Given the description of an element on the screen output the (x, y) to click on. 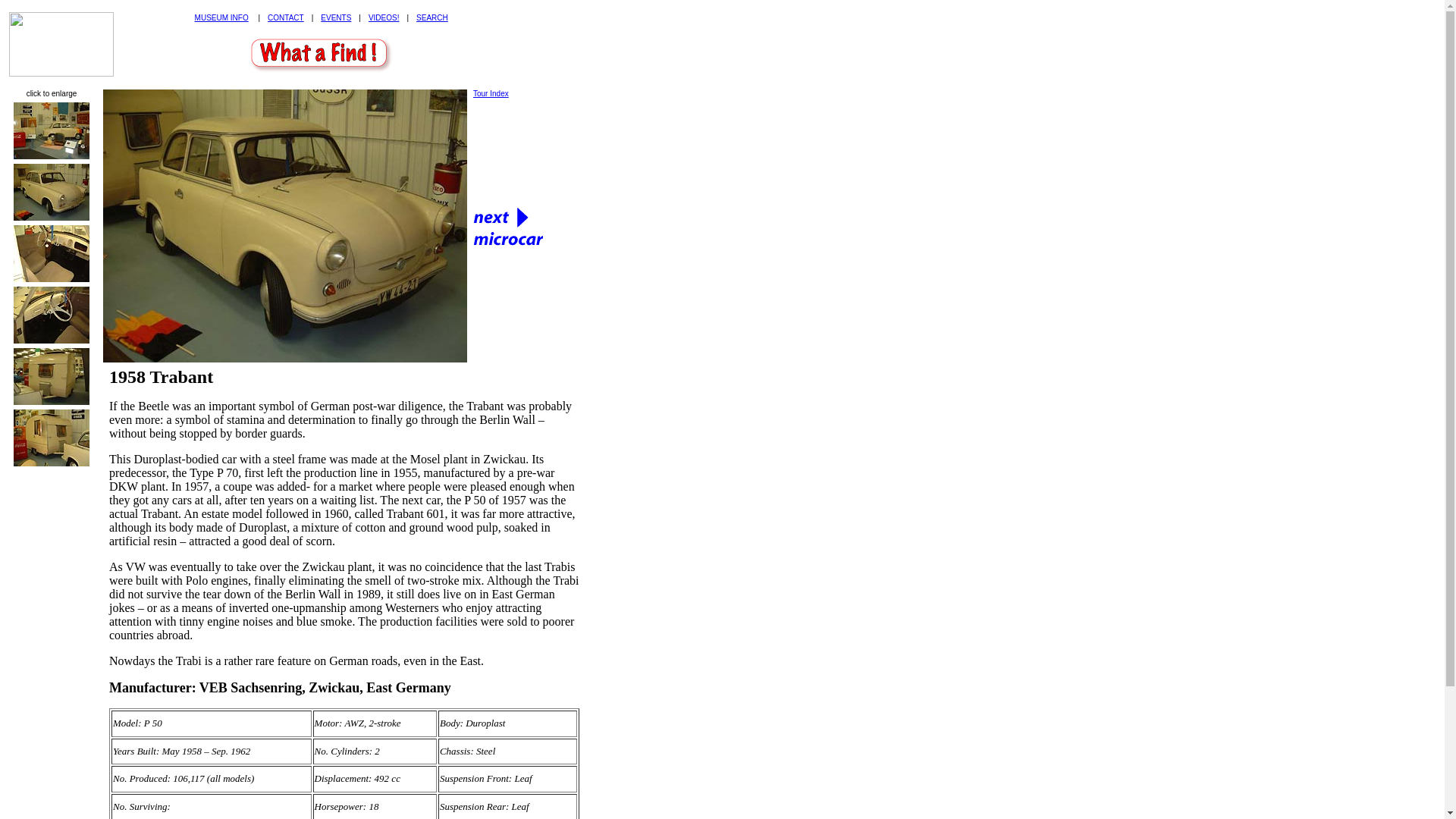
MUSEUM INFO (221, 17)
VIDEOS! (383, 17)
CONTACT (285, 17)
EVENTS (335, 17)
Tour Index (490, 93)
SEARCH (432, 17)
